Given the description of an element on the screen output the (x, y) to click on. 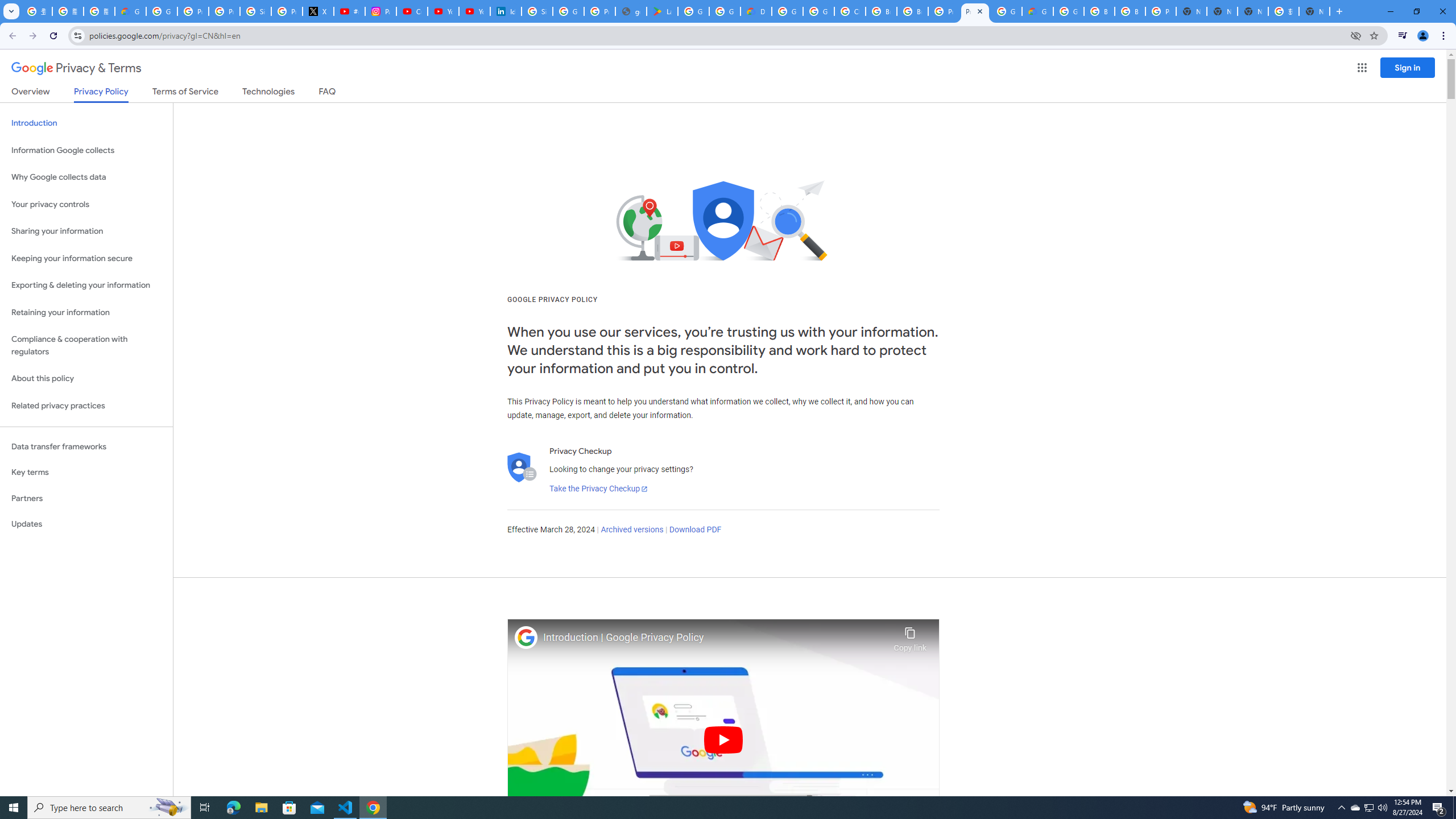
Sign in - Google Accounts (255, 11)
Google Cloud Privacy Notice (130, 11)
Retaining your information (86, 312)
Keeping your information secure (86, 258)
Introduction (86, 122)
google_privacy_policy_en.pdf (631, 11)
Play (723, 739)
Technologies (268, 93)
Privacy Help Center - Policies Help (223, 11)
